Given the description of an element on the screen output the (x, y) to click on. 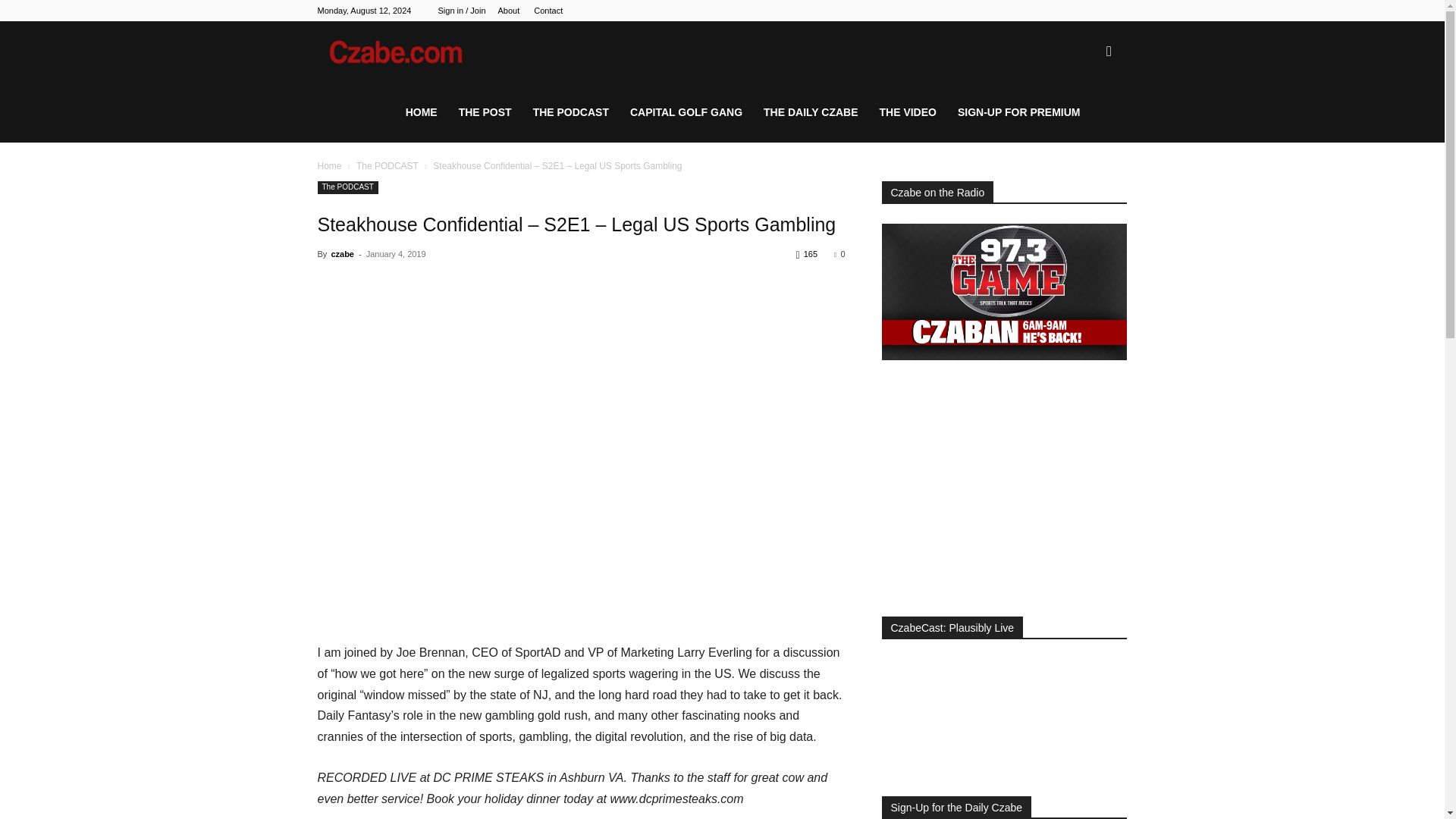
Search (1085, 124)
Home (328, 165)
THE DAILY CZABE (809, 111)
View all posts in The PODCAST (387, 165)
THE VIDEO (908, 111)
SIGN-UP FOR PREMIUM (1018, 111)
CAPITAL GOLF GANG (686, 111)
THE PODCAST (571, 111)
The PODCAST (347, 187)
